Given the description of an element on the screen output the (x, y) to click on. 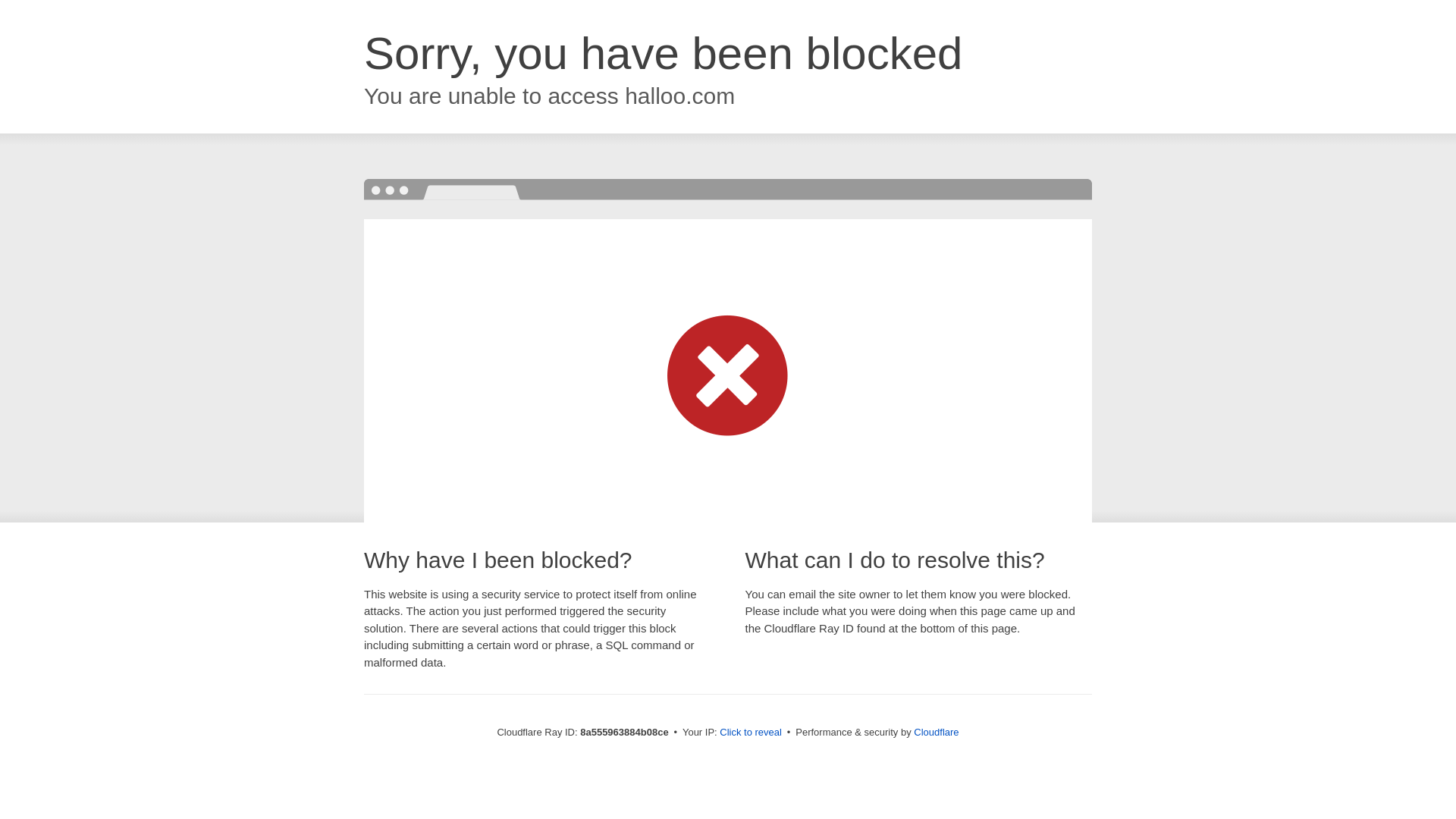
Cloudflare (936, 731)
Click to reveal (750, 732)
